Given the description of an element on the screen output the (x, y) to click on. 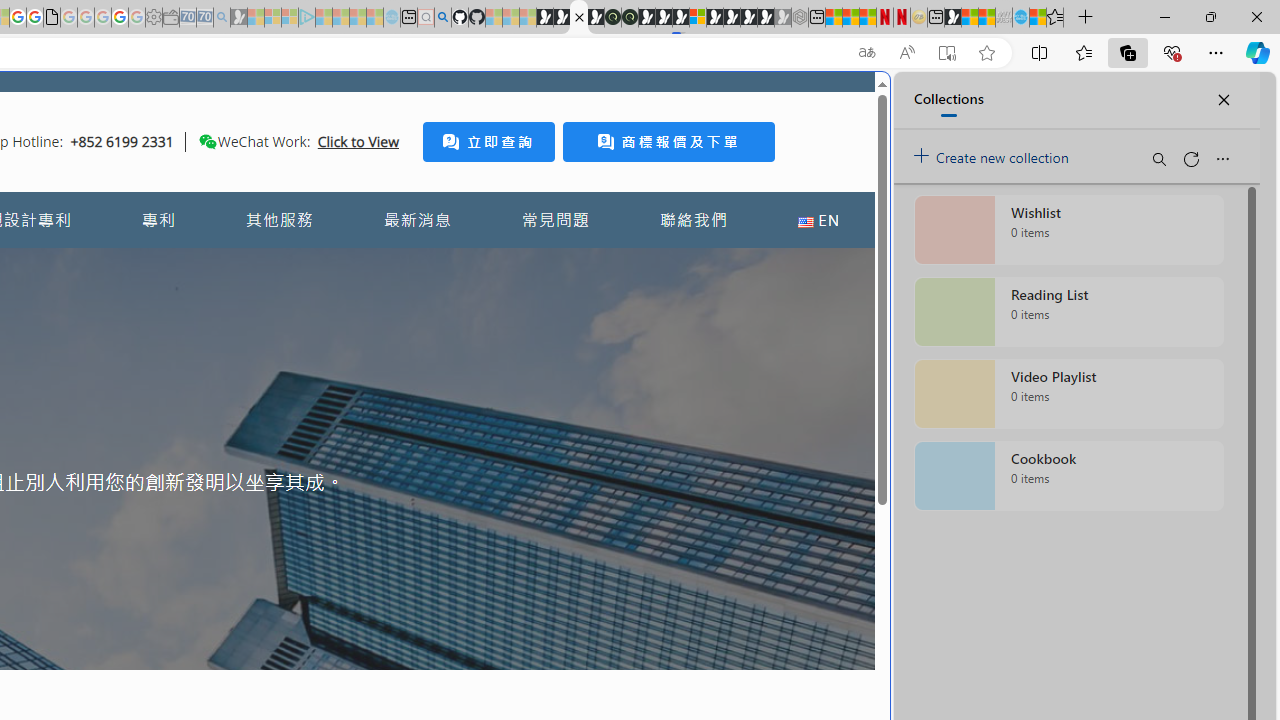
Sign in to your account (697, 17)
Bing Real Estate - Home sales and rental listings - Sleeping (221, 17)
Play Zoo Boom in your browser | Games from Microsoft Start (561, 17)
